Given the description of an element on the screen output the (x, y) to click on. 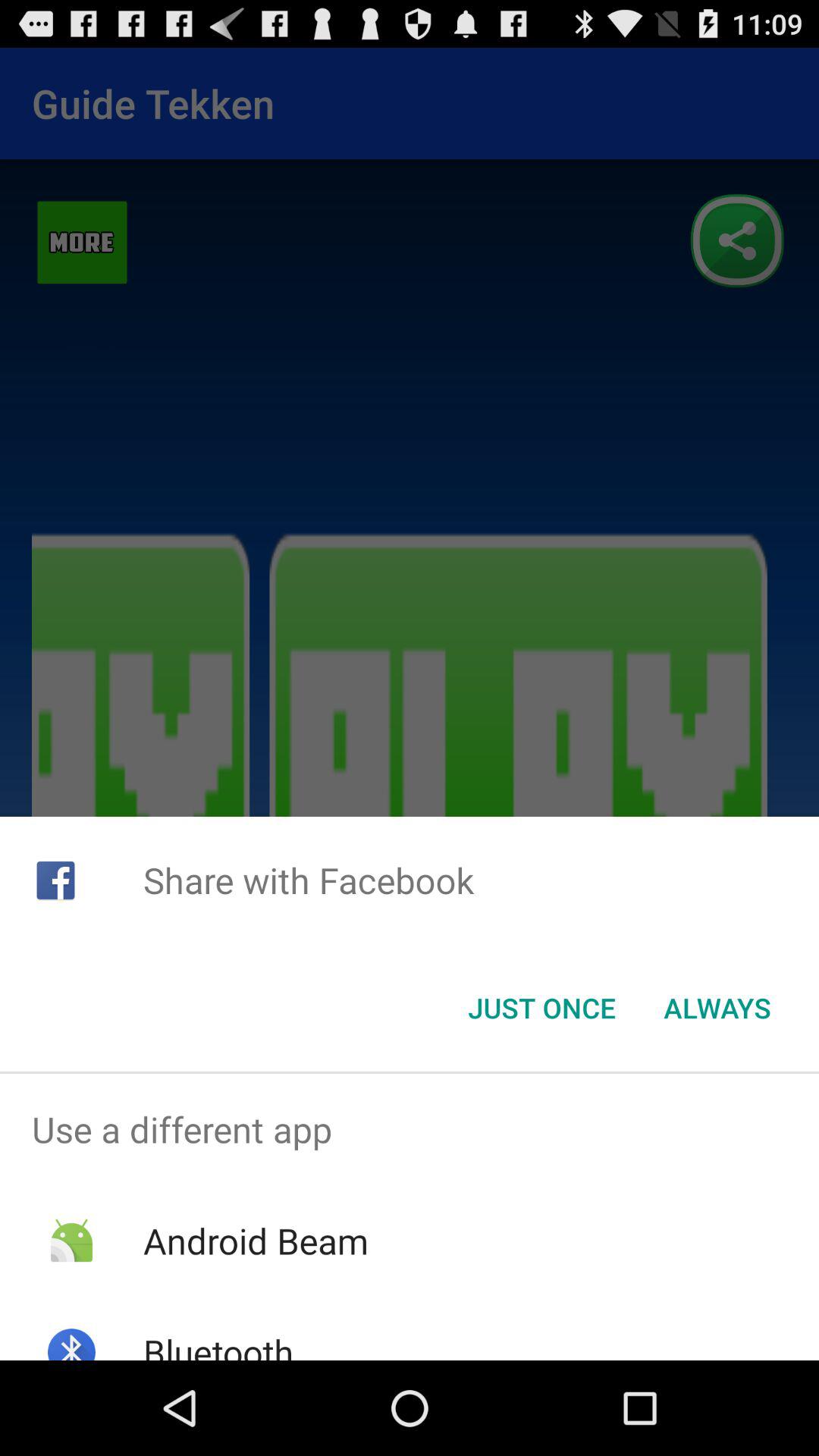
turn on the item above bluetooth app (255, 1240)
